Given the description of an element on the screen output the (x, y) to click on. 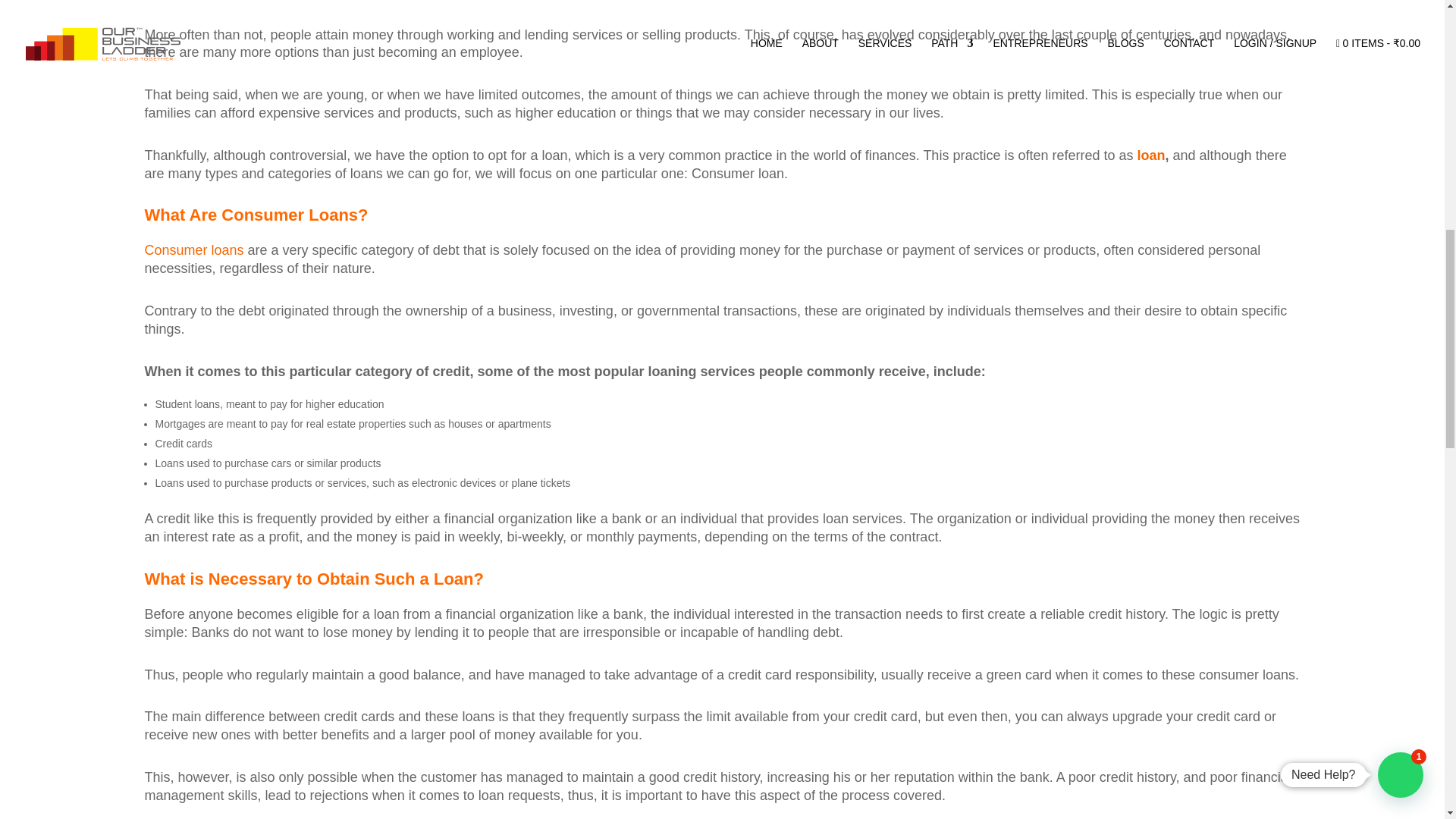
Consumer loans (193, 249)
loan (1151, 155)
